Given the description of an element on the screen output the (x, y) to click on. 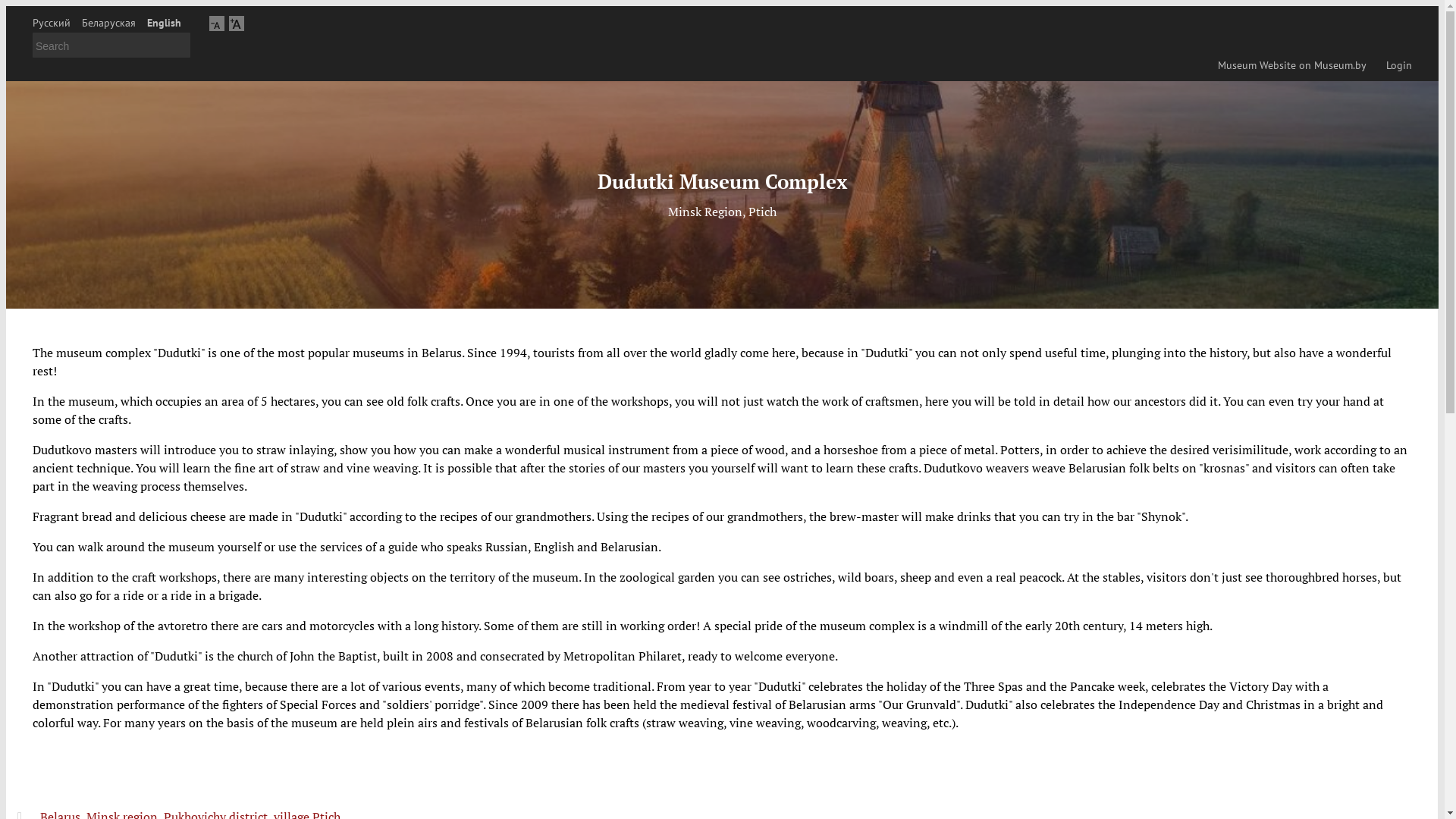
Museum Website on Museum.by Element type: text (1288, 65)
Dudutki Museum Complex Element type: text (722, 181)
Enter the terms you wish to search for. Element type: hover (111, 44)
Skip to main content Element type: text (6, 6)
A Element type: text (236, 22)
Login Element type: text (1396, 65)
English Element type: text (164, 23)
A Element type: text (216, 22)
